Given the description of an element on the screen output the (x, y) to click on. 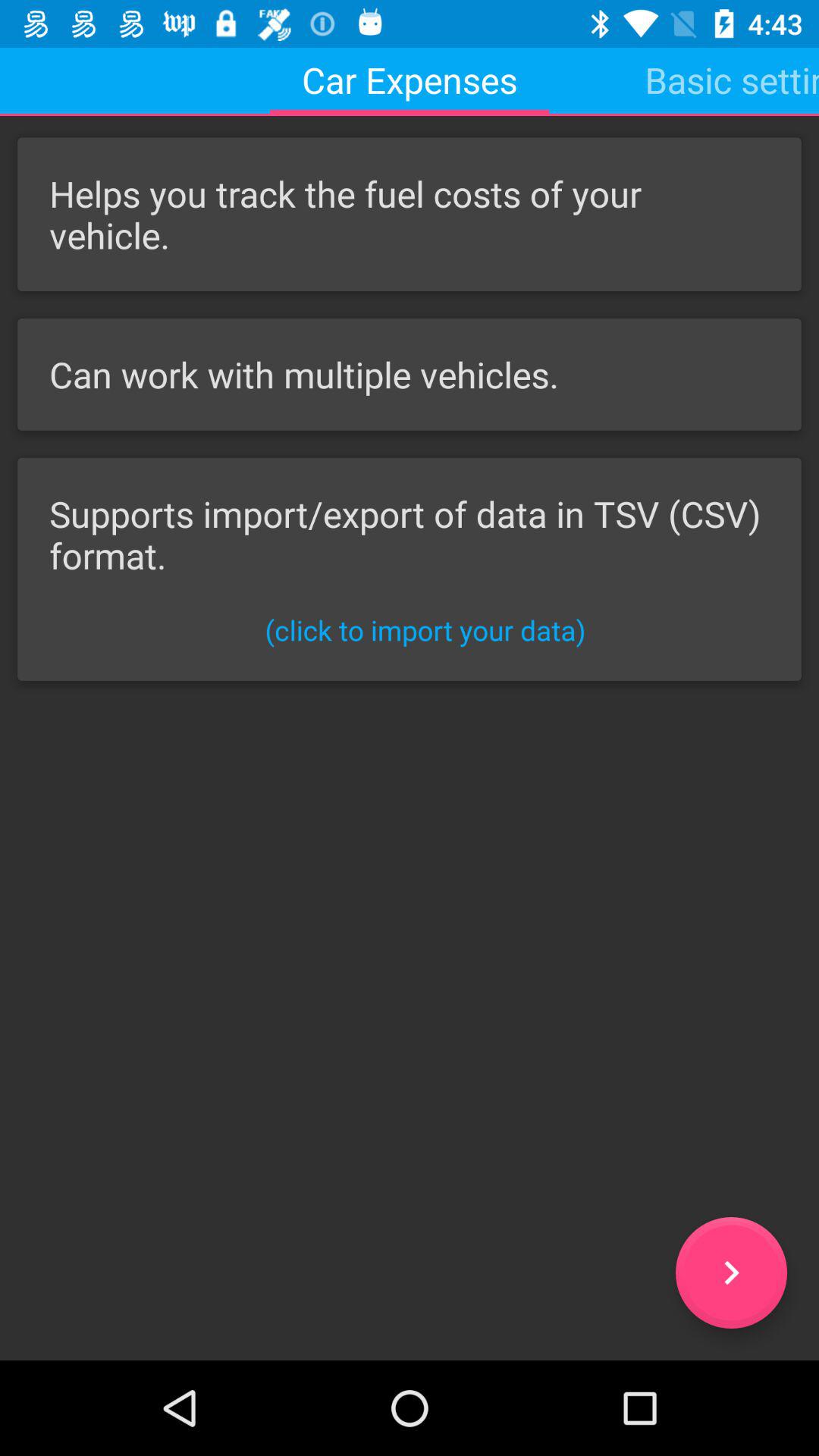
turn on item at the top right corner (731, 79)
